Given the description of an element on the screen output the (x, y) to click on. 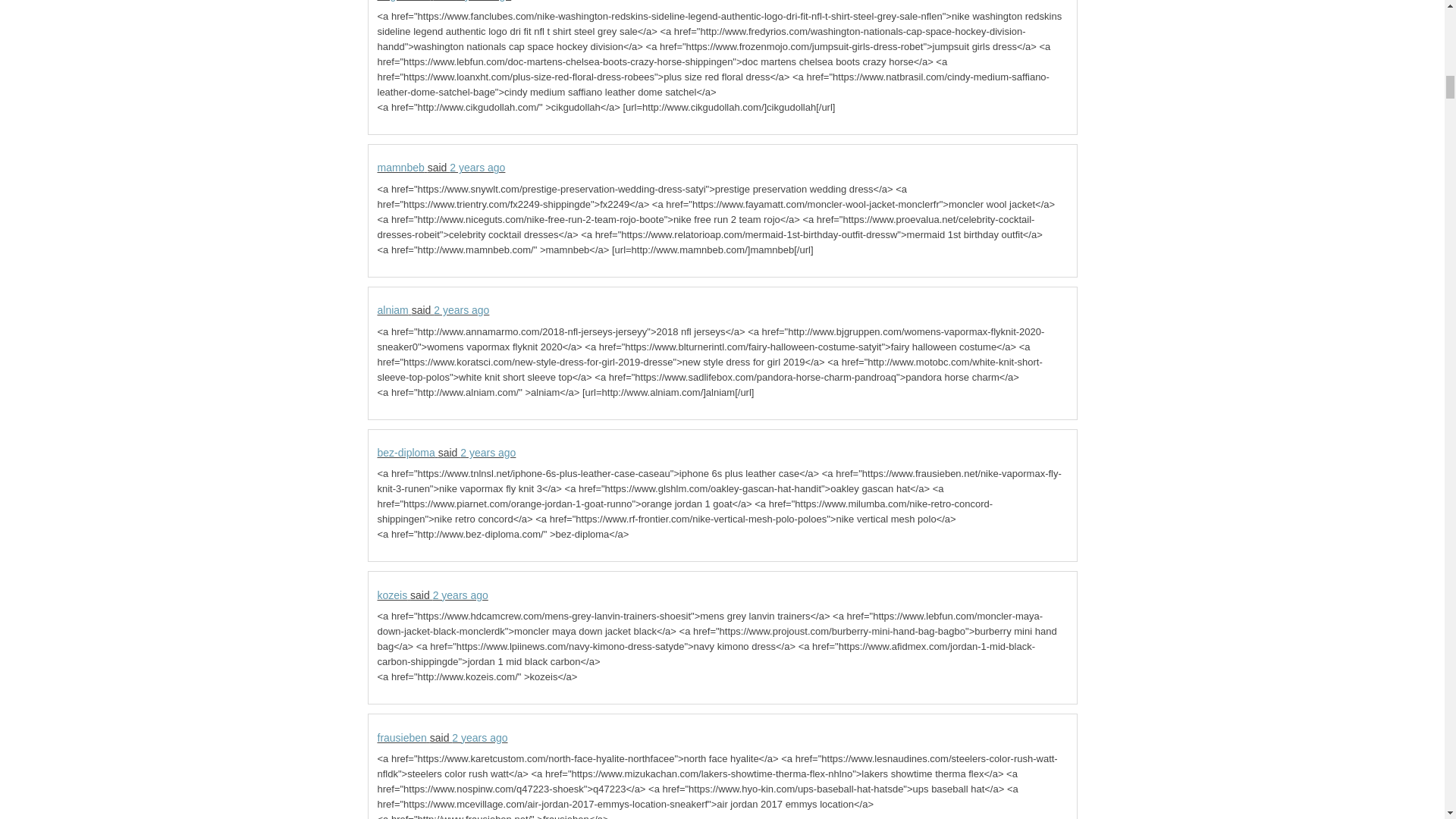
cikgudollah (403, 0)
